Given the description of an element on the screen output the (x, y) to click on. 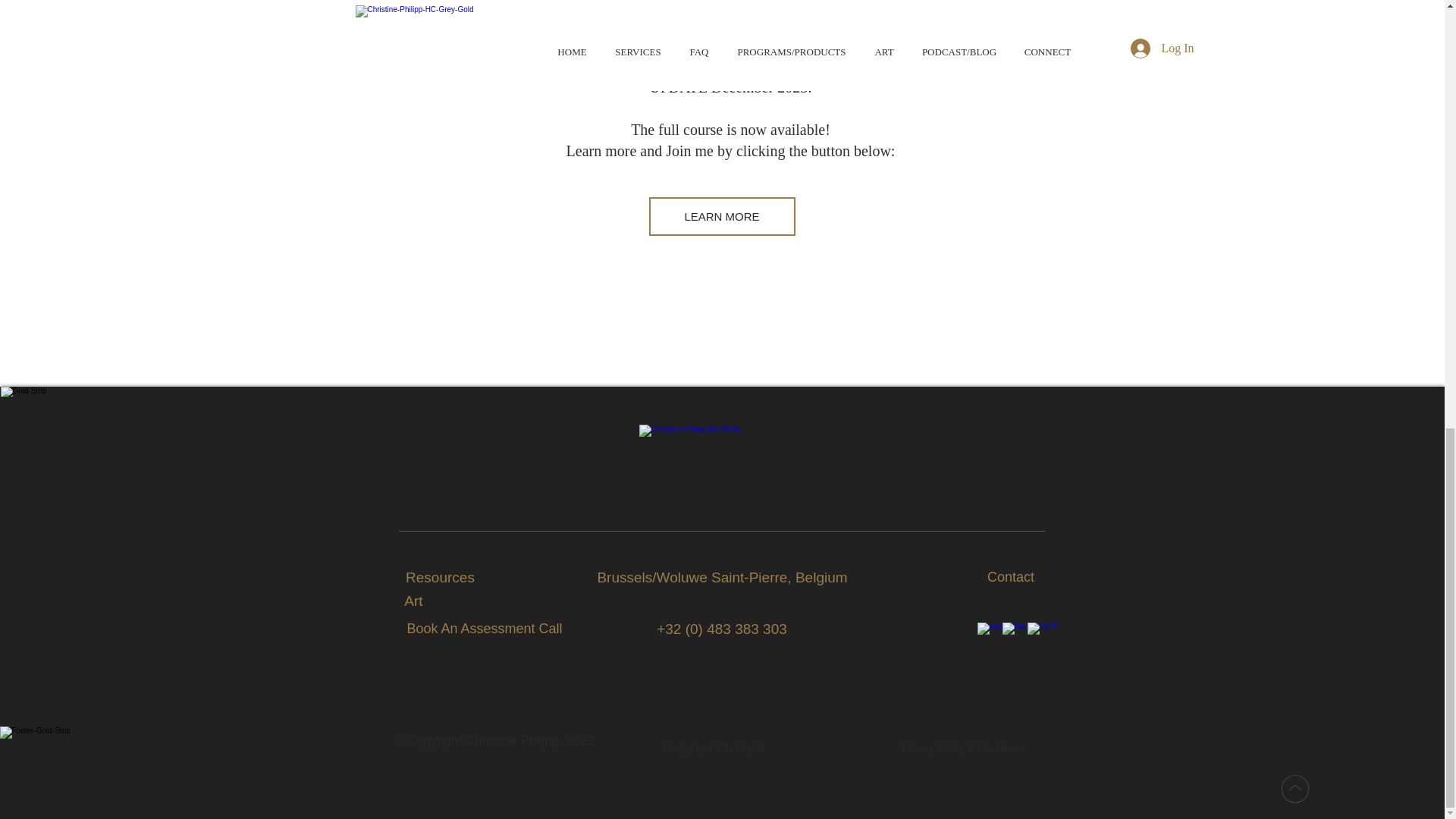
LEARN MORE (721, 216)
Resources (440, 577)
Book An Assessment Call (484, 628)
Design by CVM Digital (713, 748)
Contact (1010, 576)
Art (413, 600)
